Given the description of an element on the screen output the (x, y) to click on. 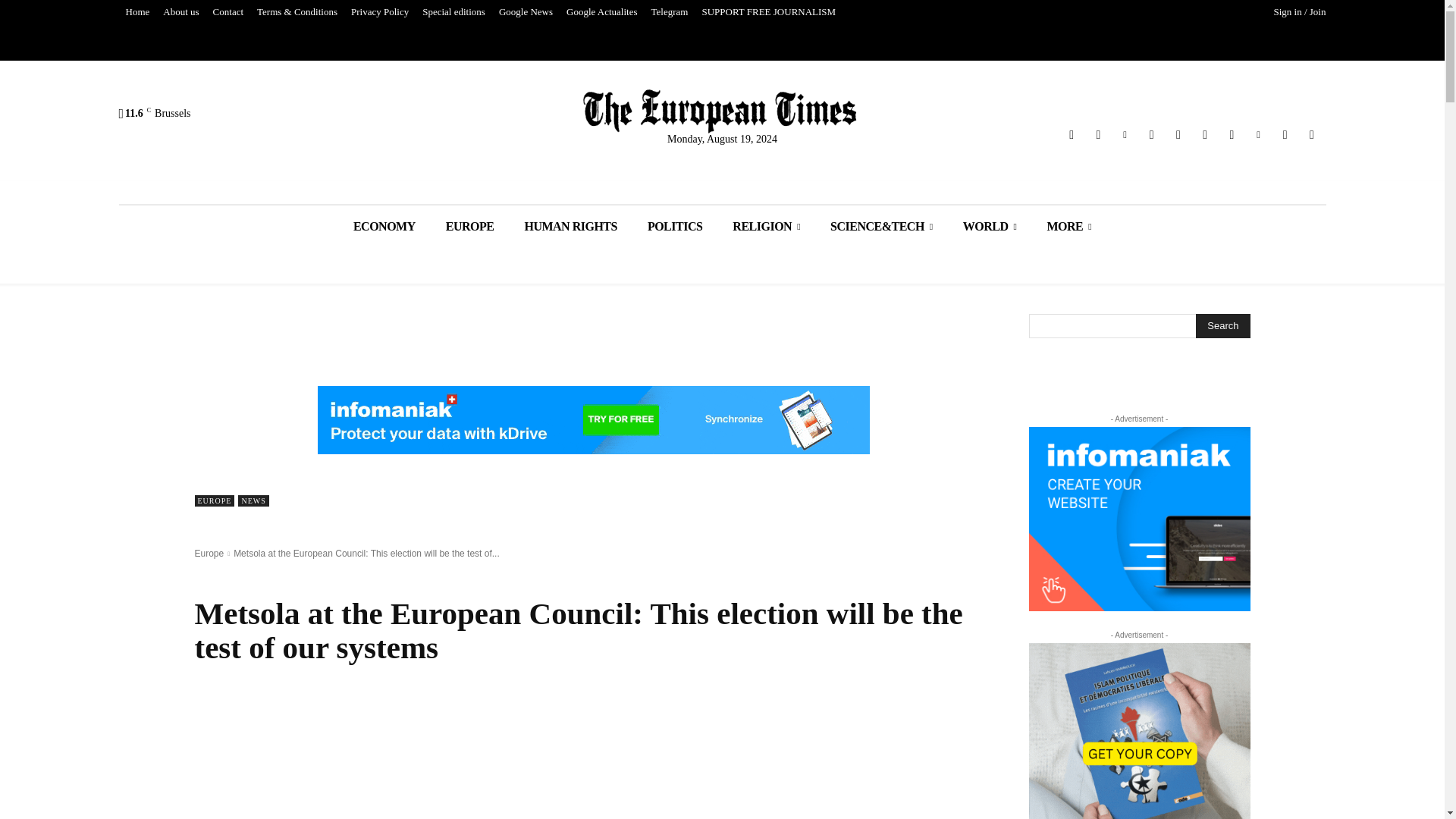
Privacy Policy (378, 12)
Special editions (453, 12)
Google News (525, 12)
The European Times (721, 110)
About us (180, 12)
The European Times (720, 110)
Contact (228, 12)
Home (136, 12)
